Given the description of an element on the screen output the (x, y) to click on. 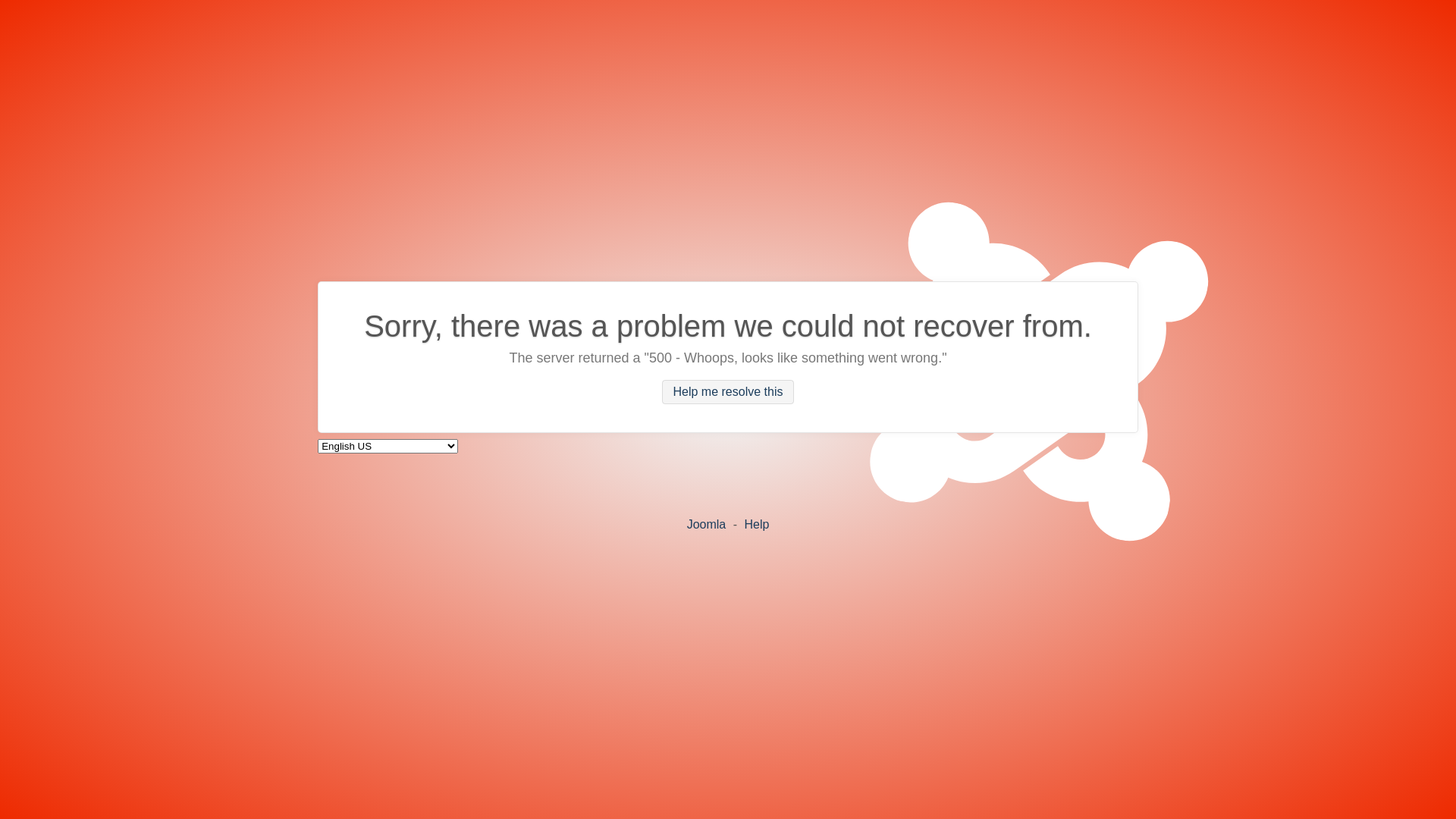
Help Element type: text (755, 523)
Help me resolve this Element type: text (727, 391)
Joomla Element type: text (706, 523)
